Given the description of an element on the screen output the (x, y) to click on. 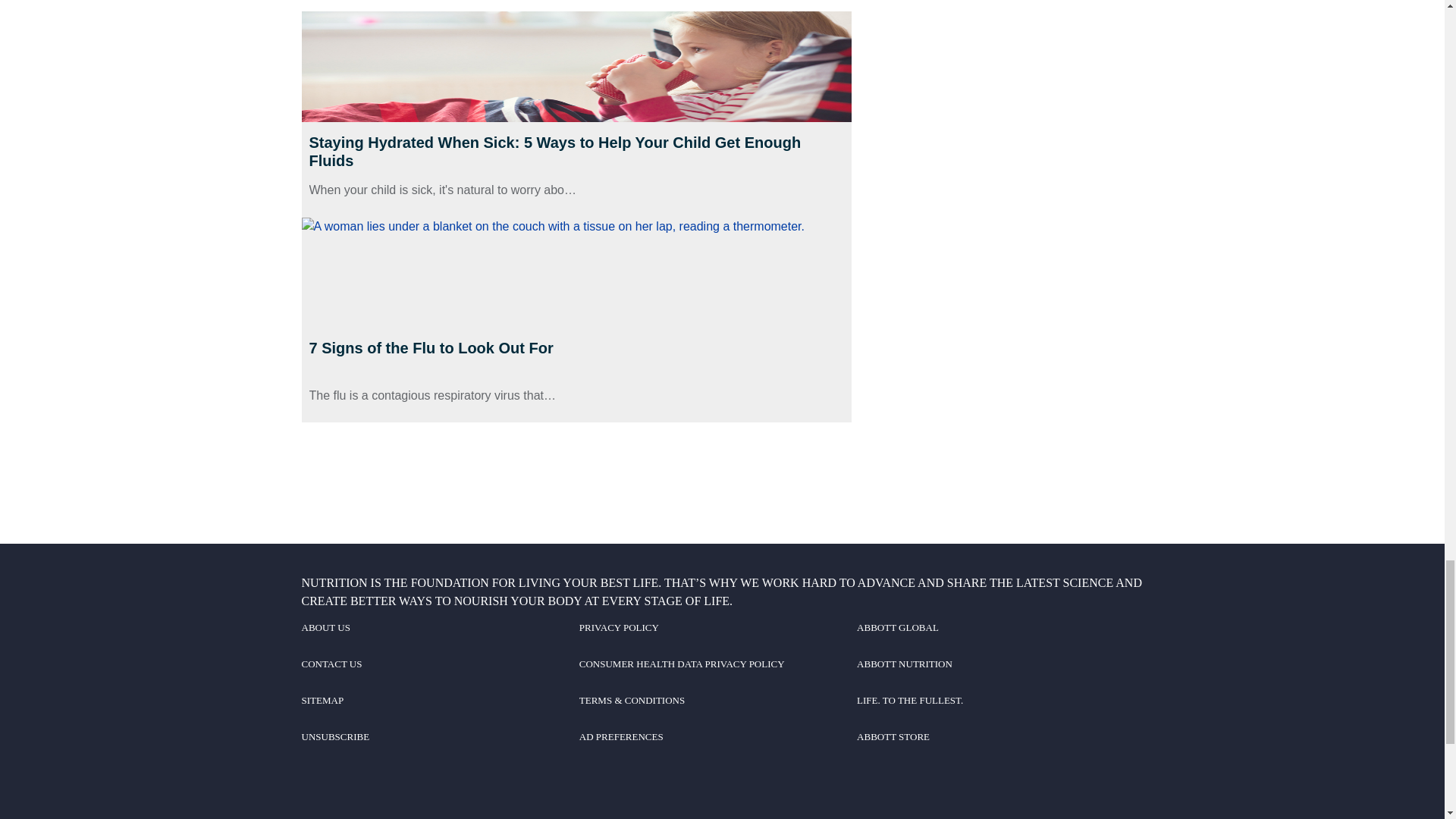
A child lies in bed drinking out of a red cup. (576, 65)
